Given the description of an element on the screen output the (x, y) to click on. 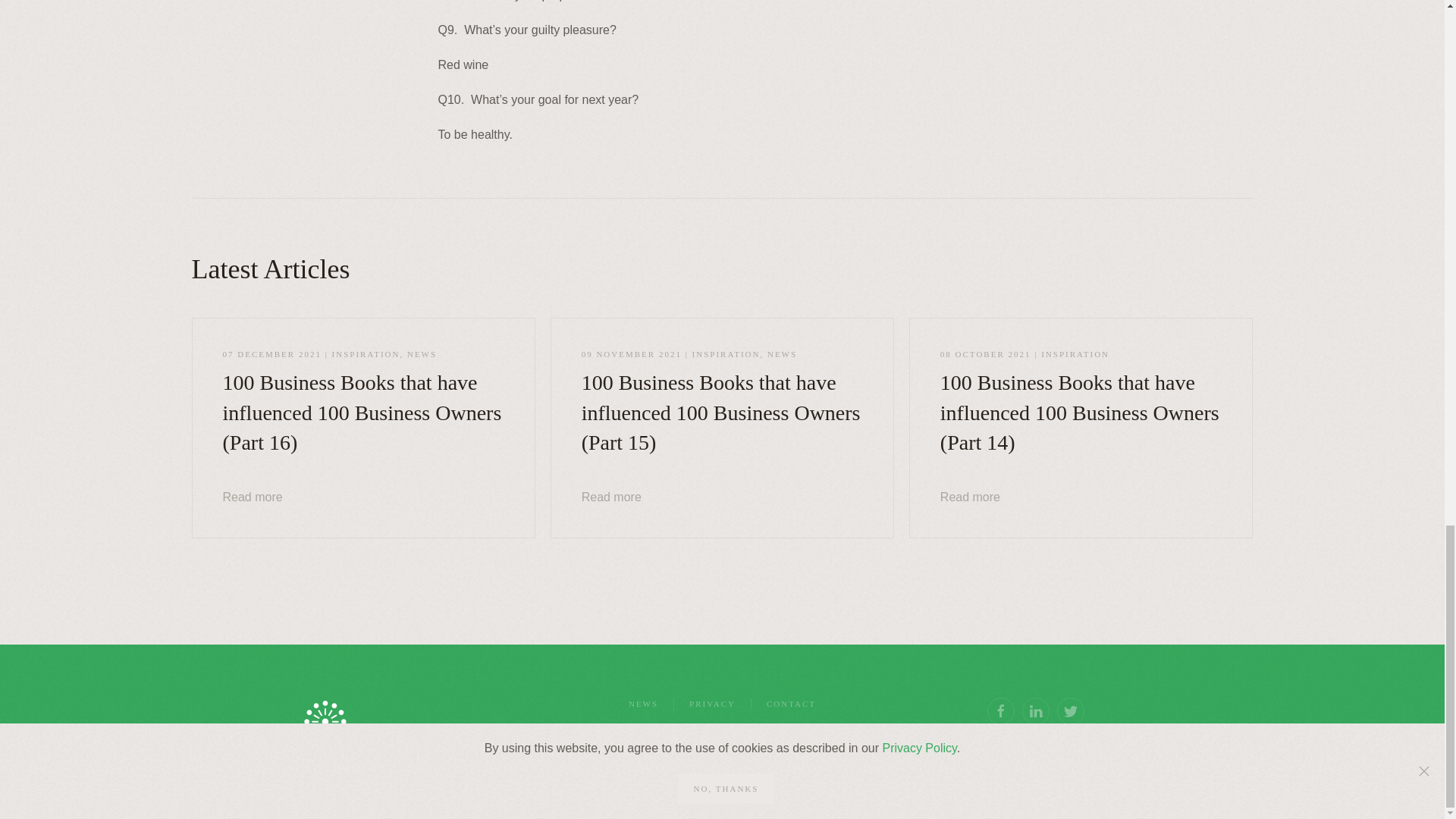
Read more (611, 496)
Read more (970, 496)
NEWS (421, 353)
NEWS (643, 704)
PRIVACY (711, 704)
NEWS (781, 353)
INSPIRATION (726, 353)
INSPIRATION (365, 353)
INSPIRATION (1075, 353)
CONTACT (791, 704)
